Given the description of an element on the screen output the (x, y) to click on. 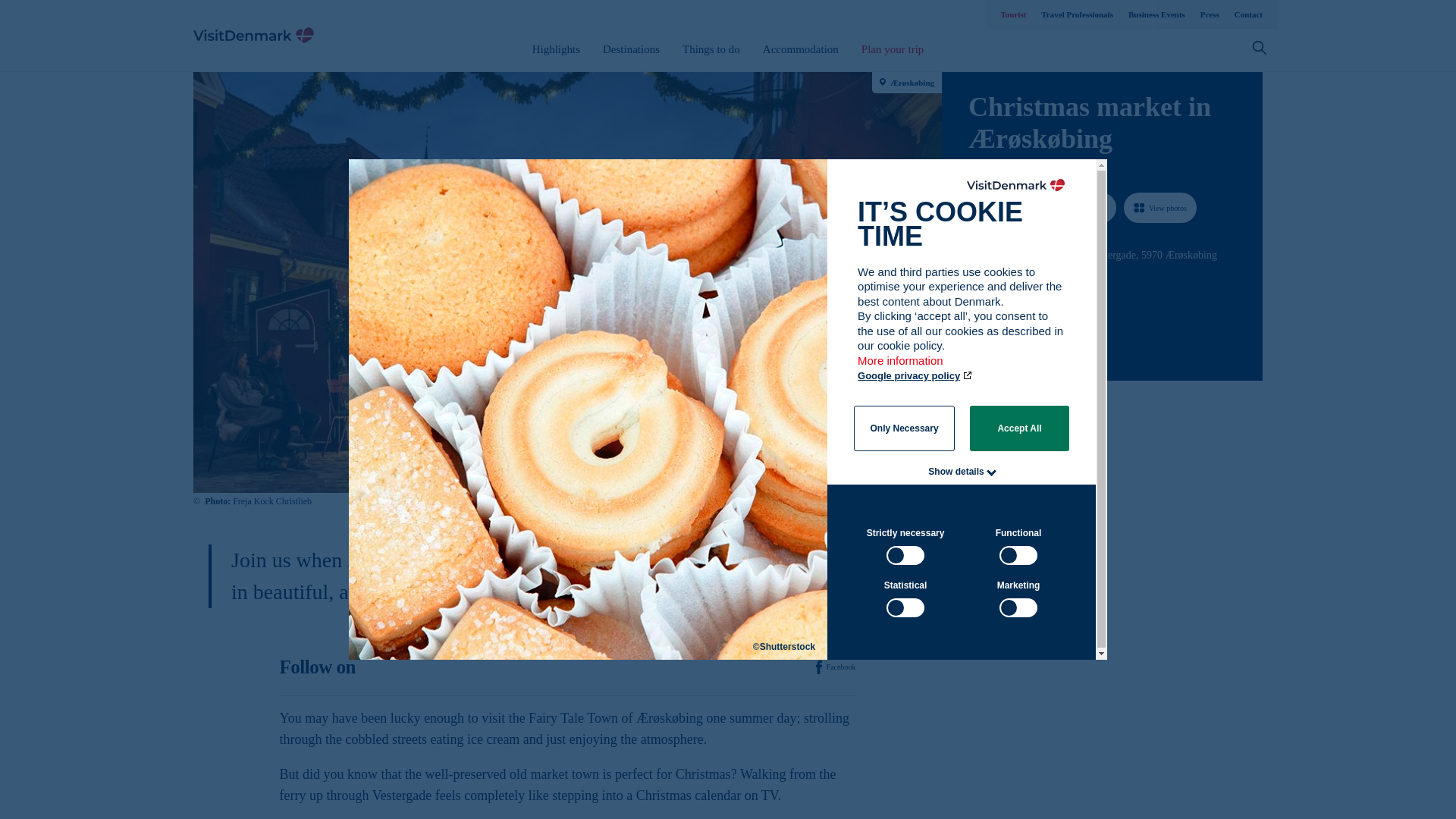
Only Necessary (904, 428)
Google privacy policy (915, 375)
Path (973, 282)
Accept All (1018, 428)
More information (900, 367)
Show details (956, 471)
